Given the description of an element on the screen output the (x, y) to click on. 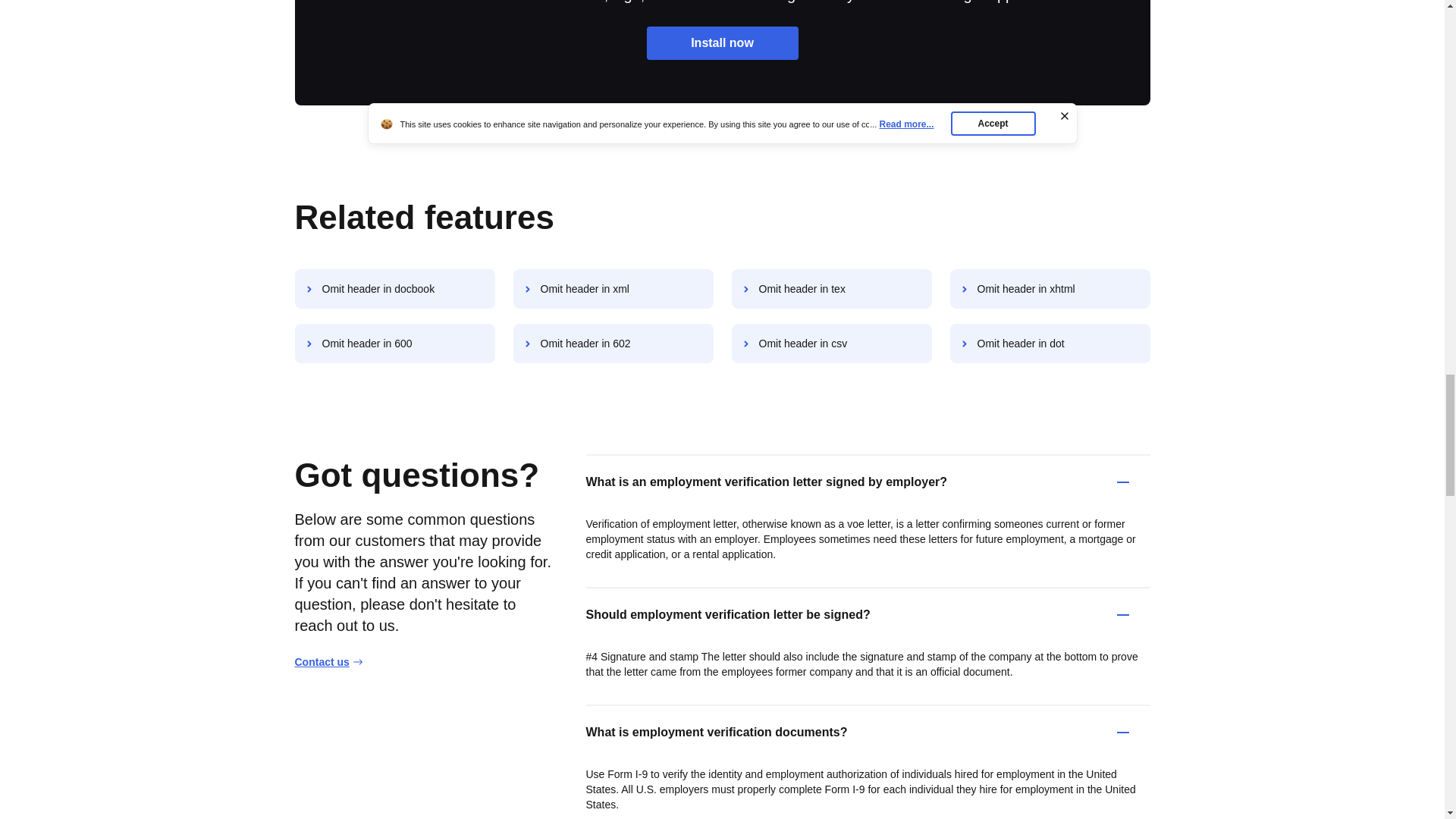
Omit header in dot (1049, 343)
Omit header in xhtml (1049, 288)
Omit header in 602 (612, 343)
Omit header in docbook (394, 288)
Omit header in csv (830, 343)
Omit header in tex (830, 288)
Omit header in xml (612, 288)
Install now (721, 42)
Contact us (328, 661)
Omit header in 600 (394, 343)
